Given the description of an element on the screen output the (x, y) to click on. 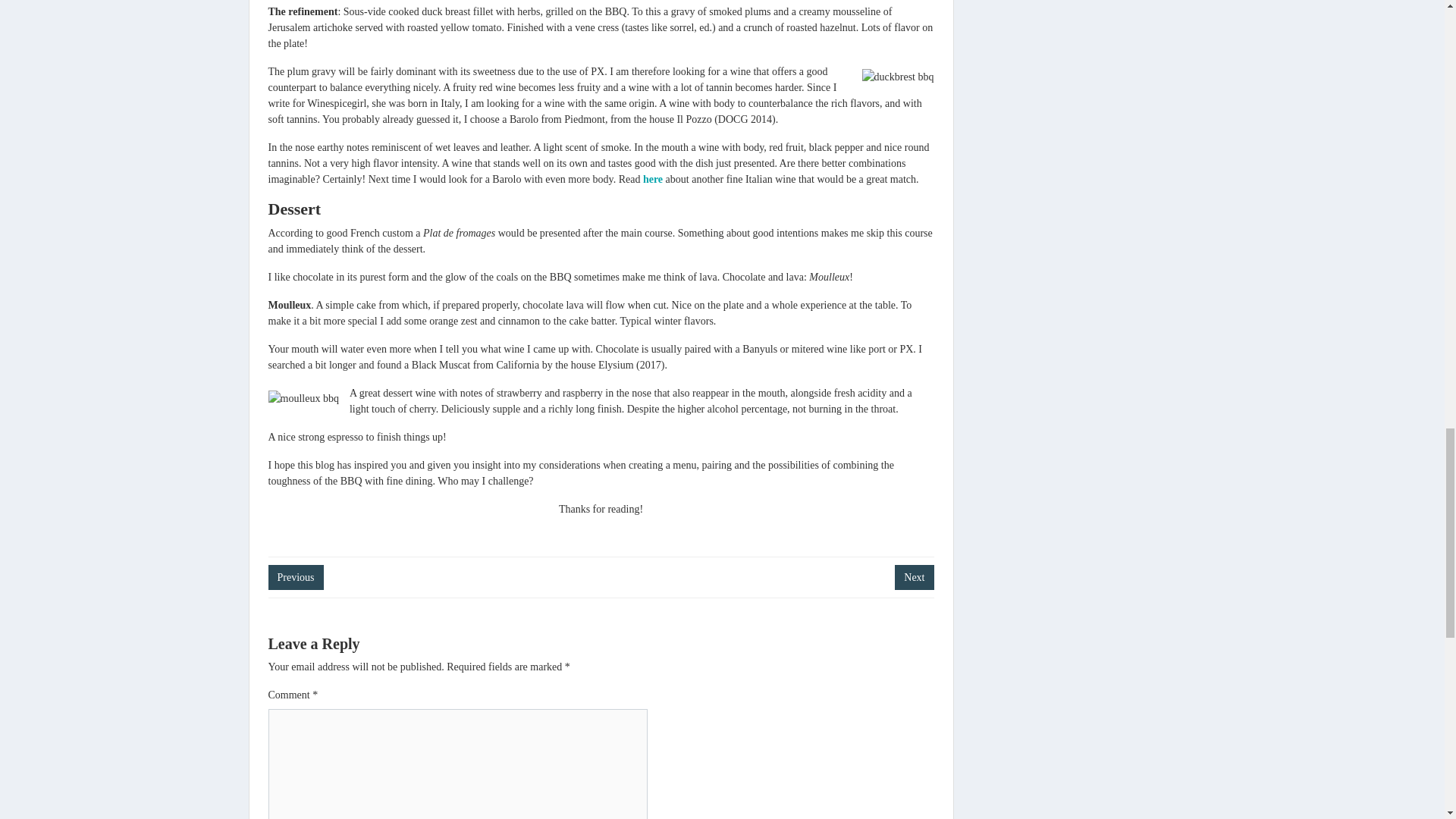
here (652, 179)
Next (914, 577)
Previous (295, 577)
